Given the description of an element on the screen output the (x, y) to click on. 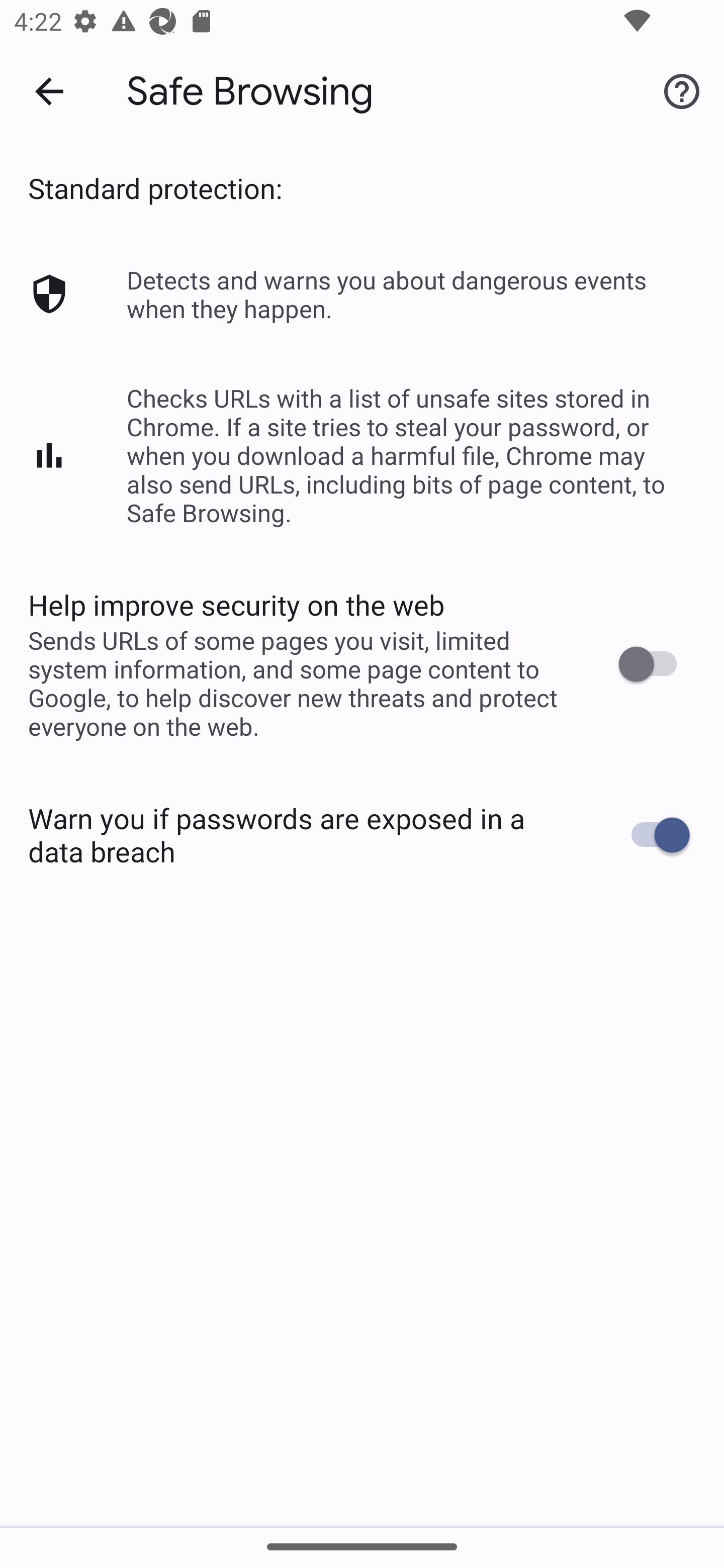
Navigate up (49, 91)
Help & feedback (681, 90)
Warn you if passwords are exposed in a data breach (362, 834)
